Given the description of an element on the screen output the (x, y) to click on. 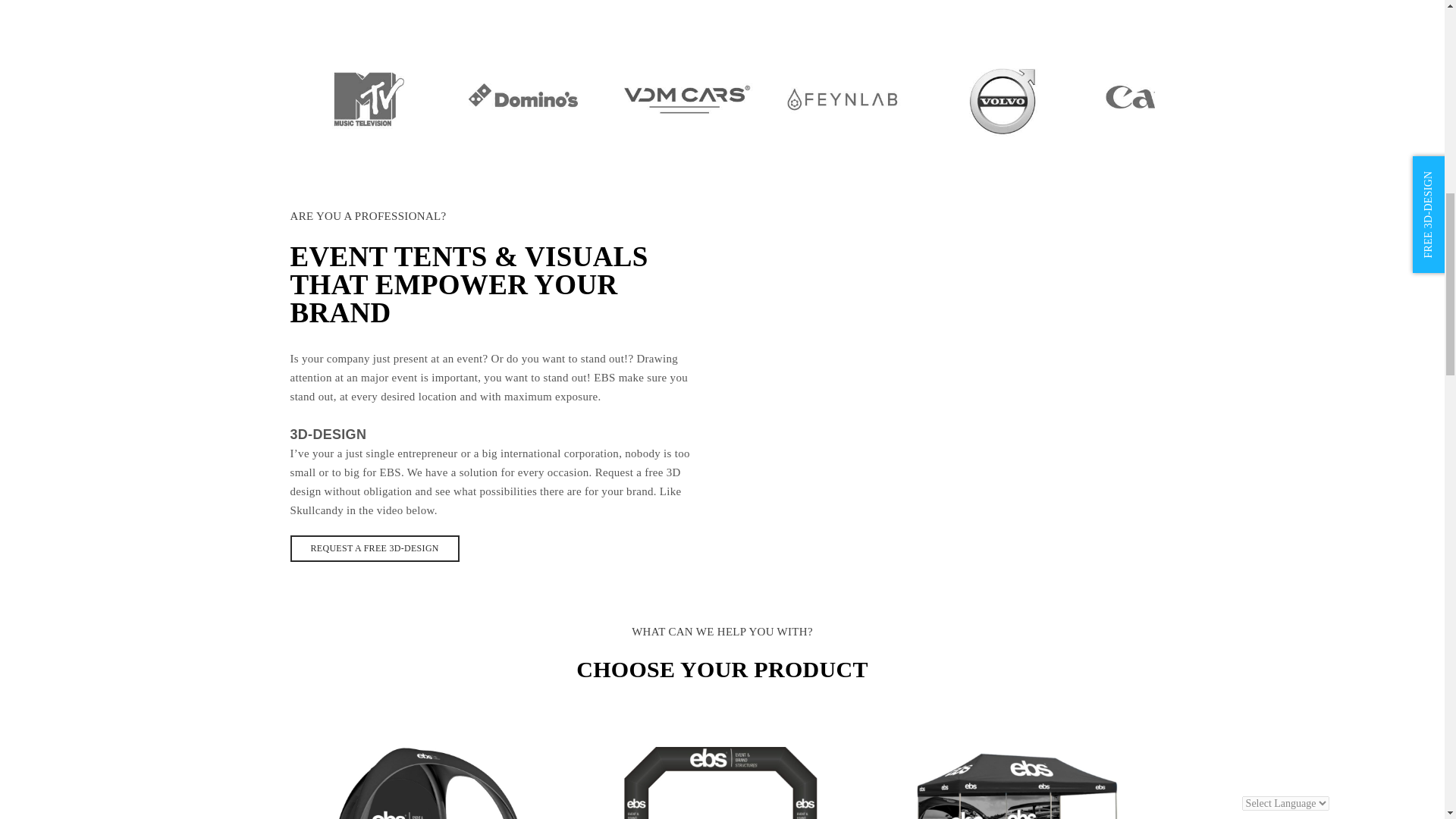
Bekijken (721, 811)
Bekijken (1017, 811)
REQUEST A FREE 3D-DESIGN (373, 548)
Bekijken (425, 811)
MTV (365, 100)
